Given the description of an element on the screen output the (x, y) to click on. 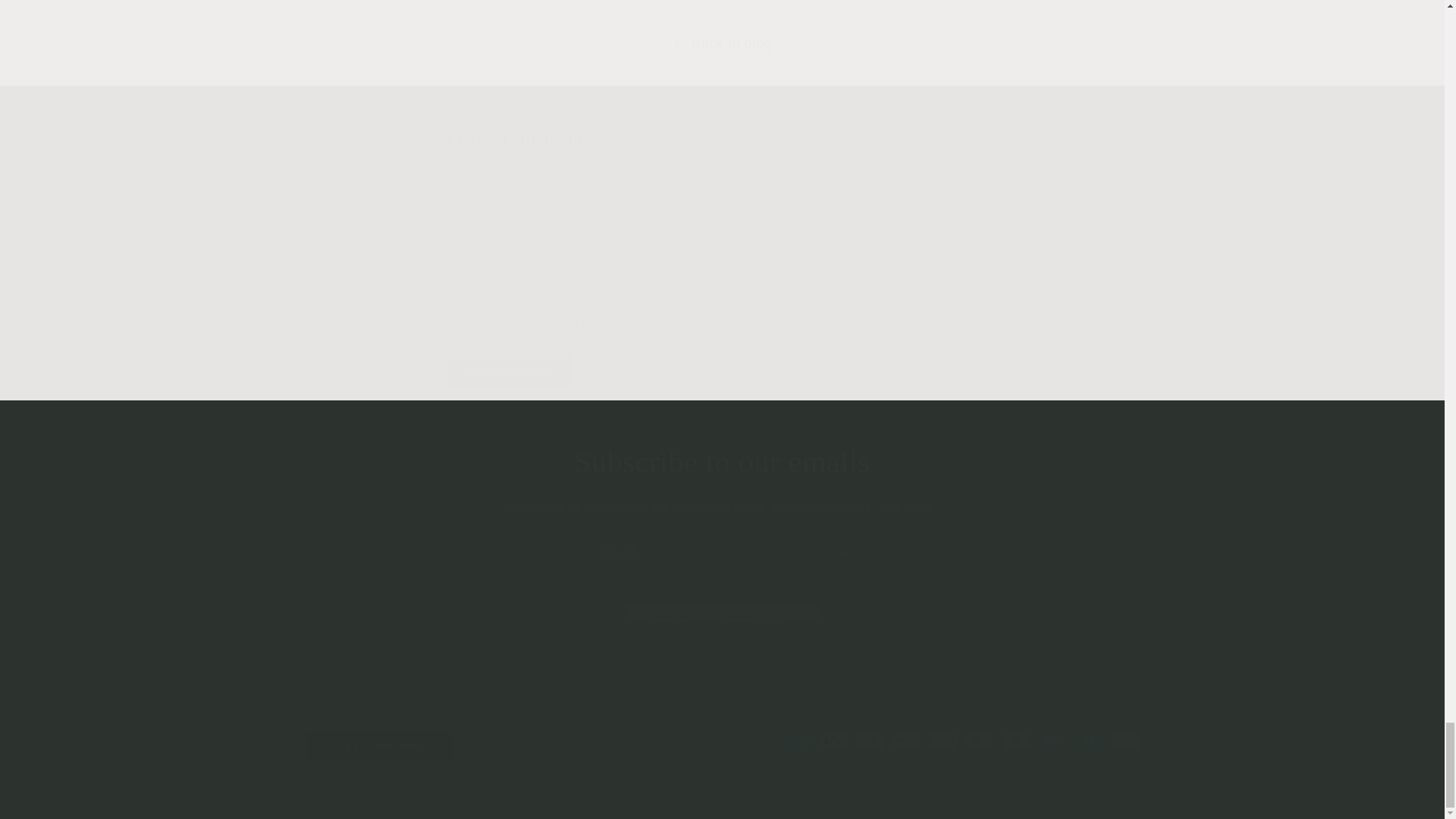
Email (722, 552)
Subscribe to our emails (721, 462)
Post comment (510, 370)
